Given the description of an element on the screen output the (x, y) to click on. 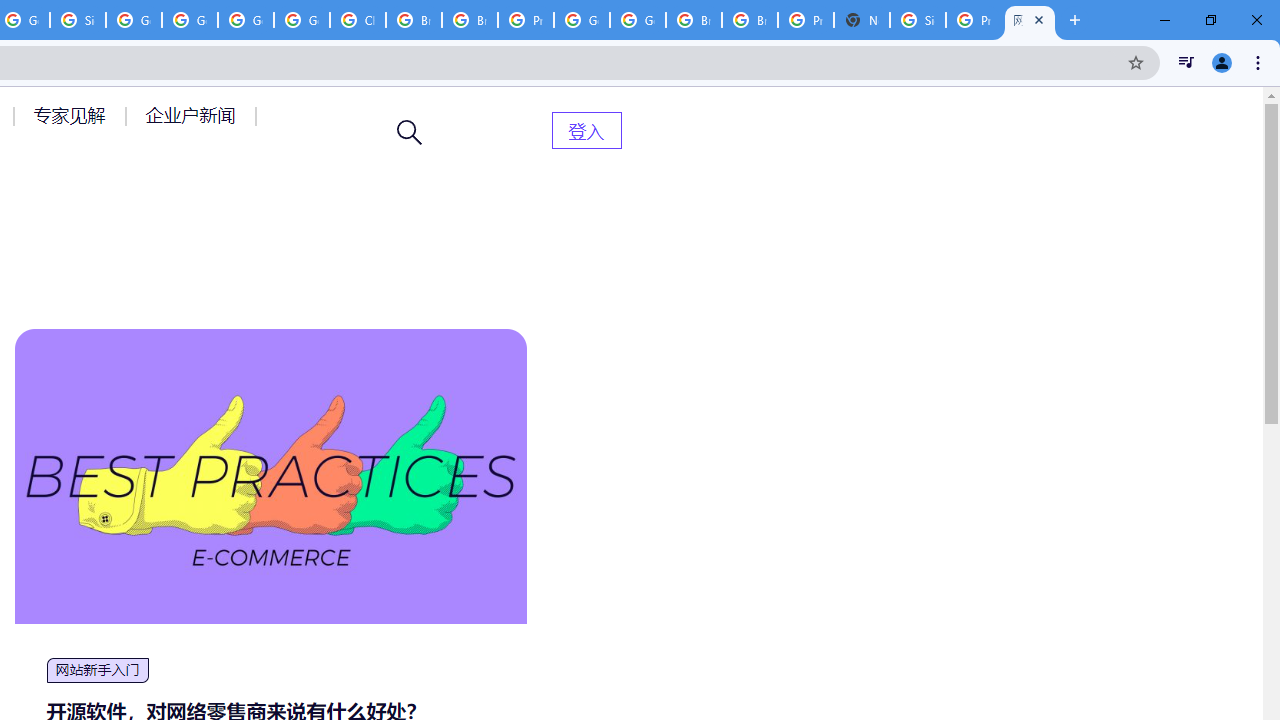
AutomationID: menu-item-82399 (586, 129)
Google Cloud Platform (637, 20)
AutomationID: menu-item-77764 (72, 115)
Browse Chrome as a guest - Computer - Google Chrome Help (693, 20)
